Given the description of an element on the screen output the (x, y) to click on. 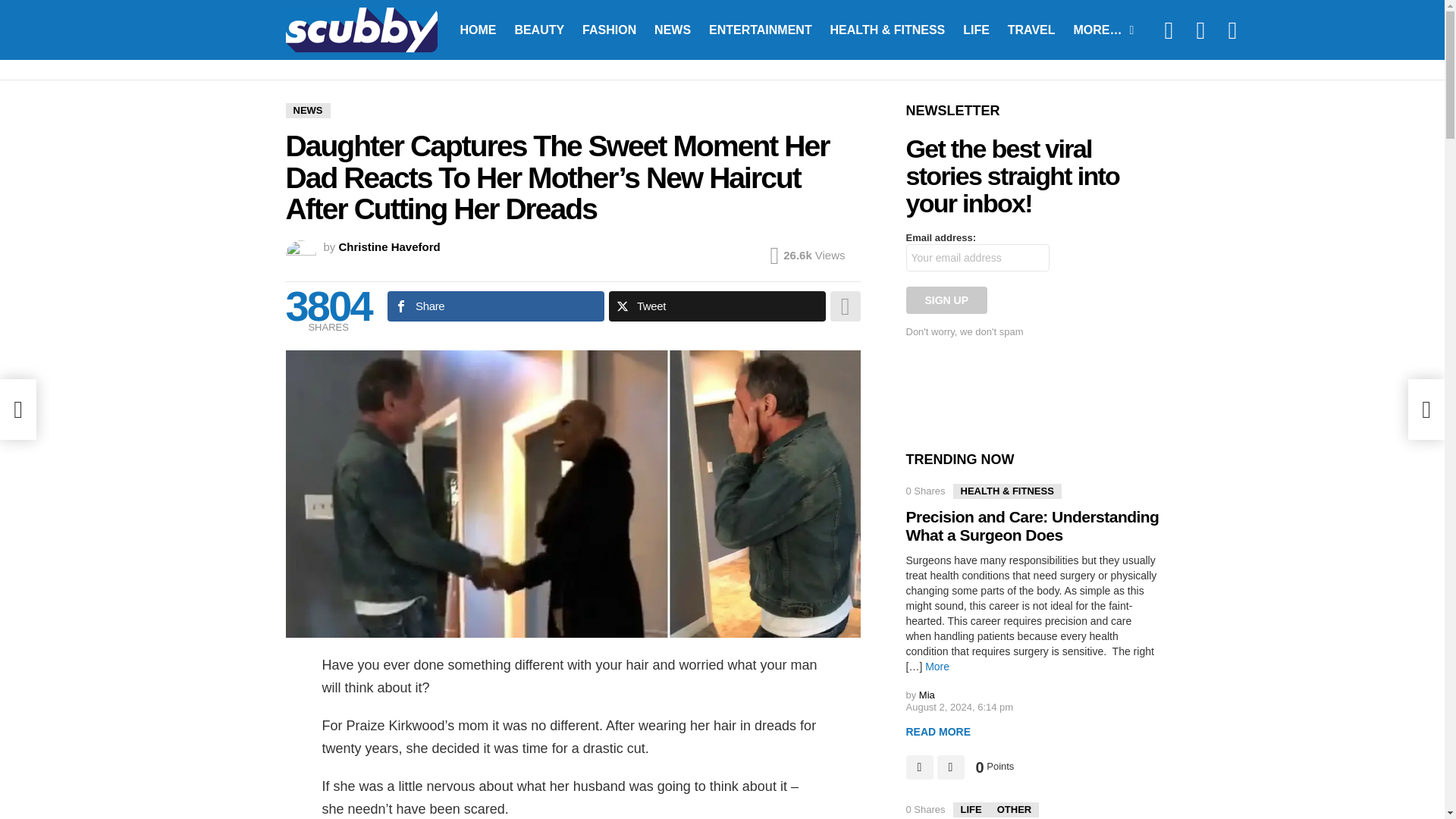
Upvote (919, 767)
TRAVEL (1031, 29)
Downvote (950, 767)
Christine Haveford (390, 246)
Share (495, 306)
FASHION (609, 29)
NEWS (672, 29)
LIFE (976, 29)
ENTERTAINMENT (760, 29)
NEWS (307, 110)
Sign up (946, 299)
Posts by Mia (926, 695)
Tweet (716, 306)
Posts by Christine Haveford (390, 246)
HOME (477, 29)
